Given the description of an element on the screen output the (x, y) to click on. 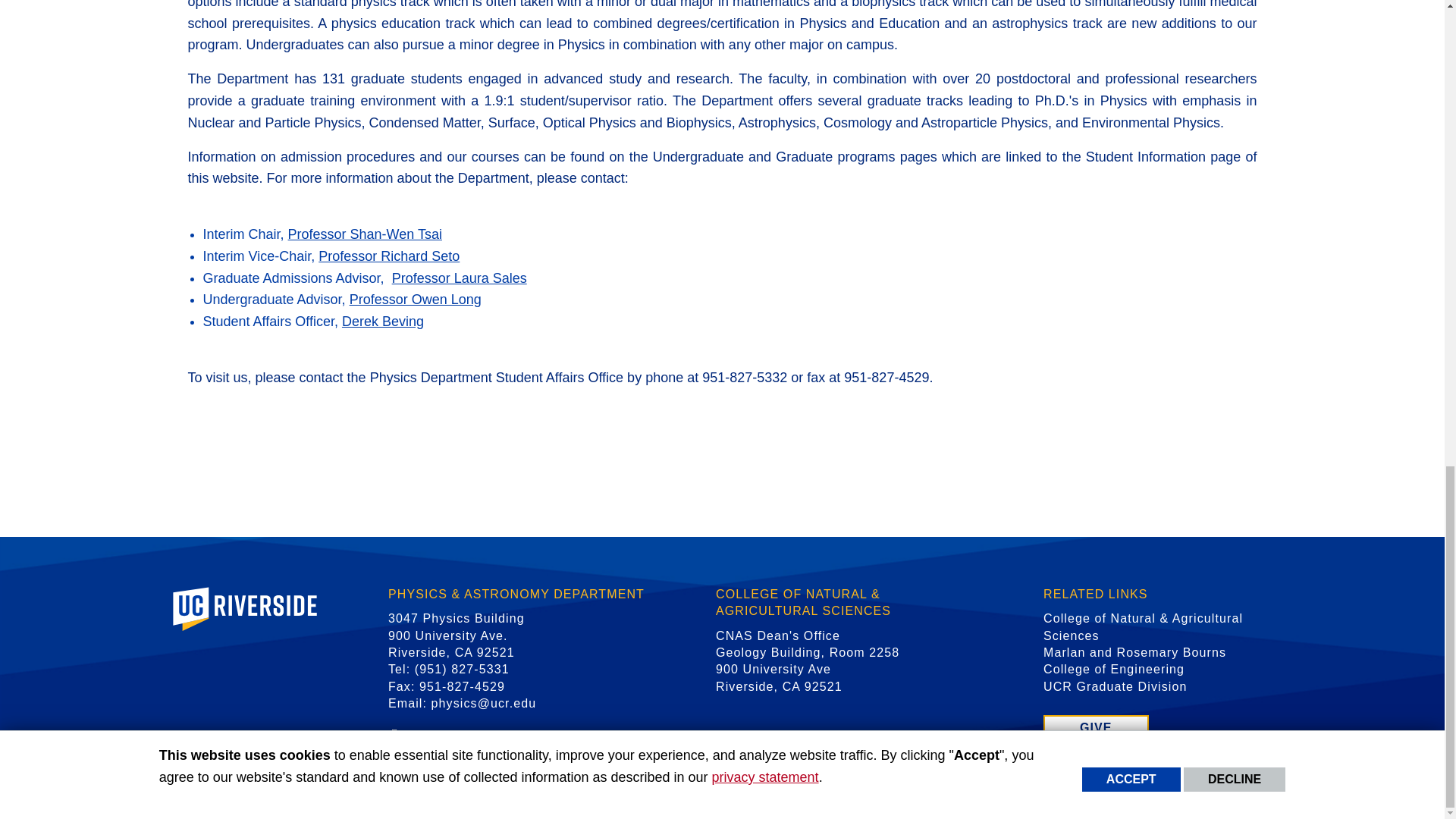
give (1095, 727)
Professor Roya Zandi (459, 278)
